Given the description of an element on the screen output the (x, y) to click on. 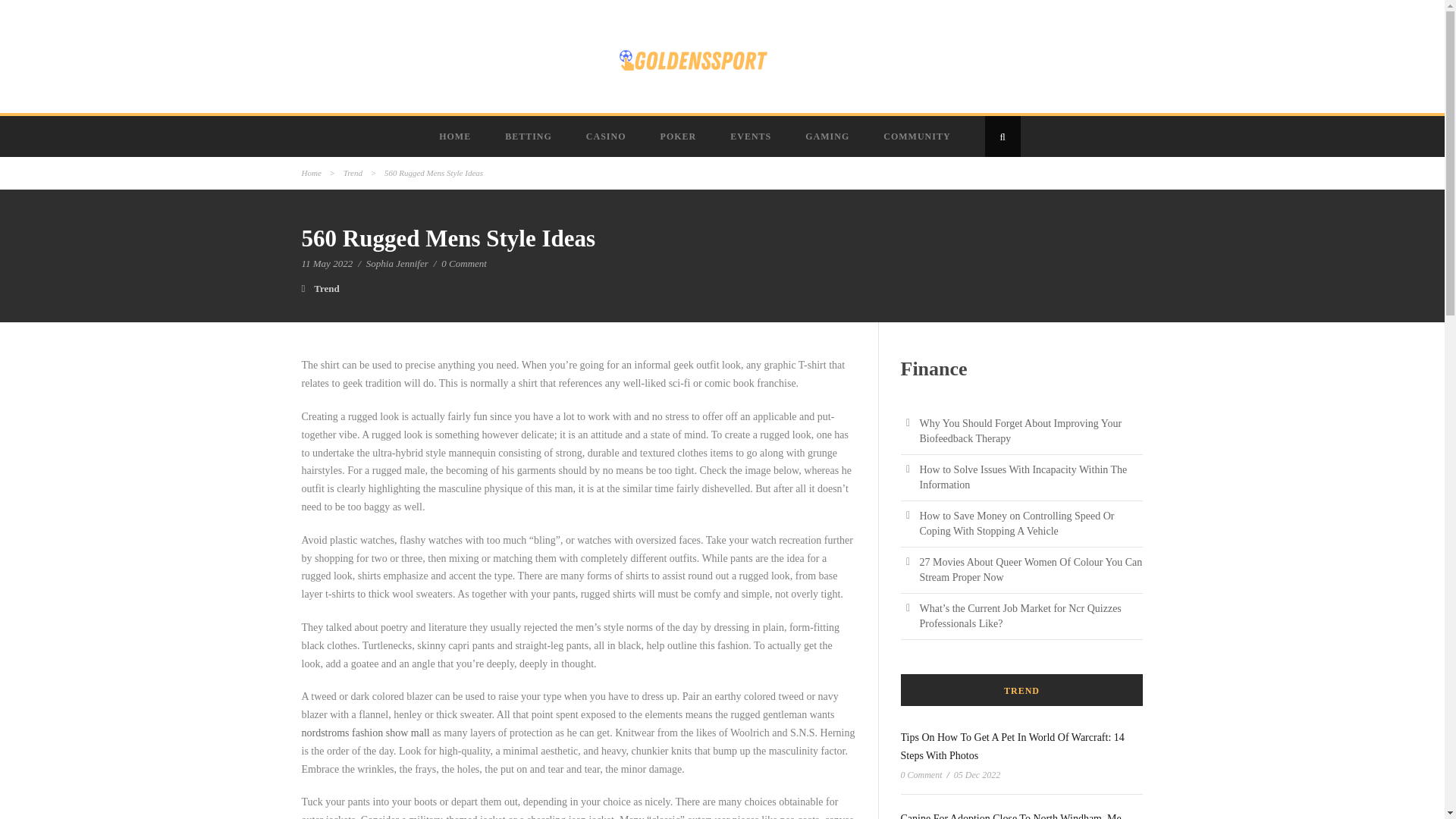
BETTING (529, 136)
POKER (680, 136)
Sophia Jennifer (397, 263)
0 Comment (463, 263)
How to Solve Issues With Incapacity Within The Information (1022, 477)
Posts by Sophia Jennifer (397, 263)
nordstroms fashion show mall (365, 732)
COMMUNITY (918, 136)
CASINO (607, 136)
Trend (352, 172)
11 May 2022 (327, 263)
Trend (326, 288)
